Given the description of an element on the screen output the (x, y) to click on. 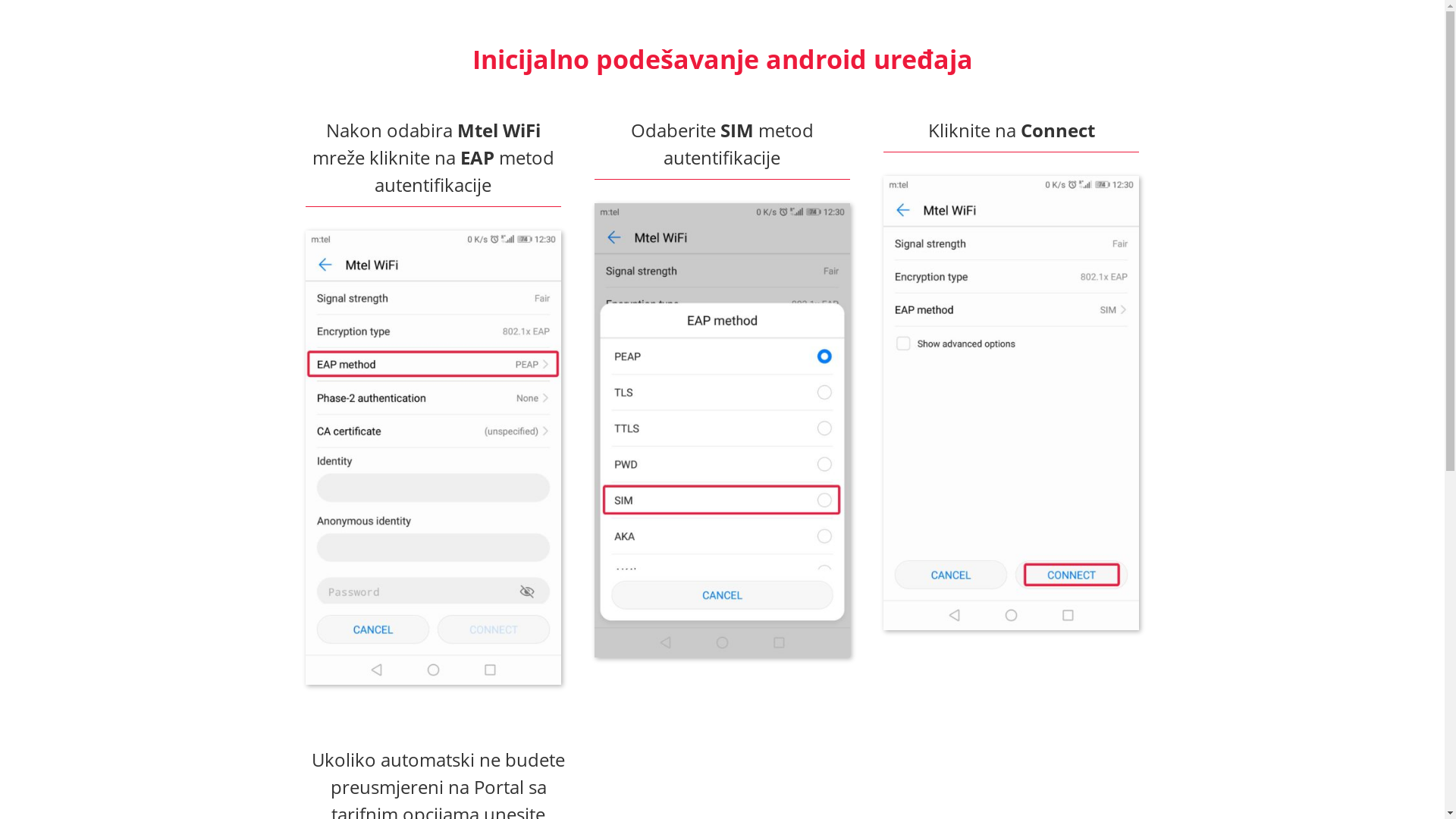
1 Element type: hover (432, 457)
3 Element type: hover (1011, 402)
2 Element type: hover (722, 430)
